Given the description of an element on the screen output the (x, y) to click on. 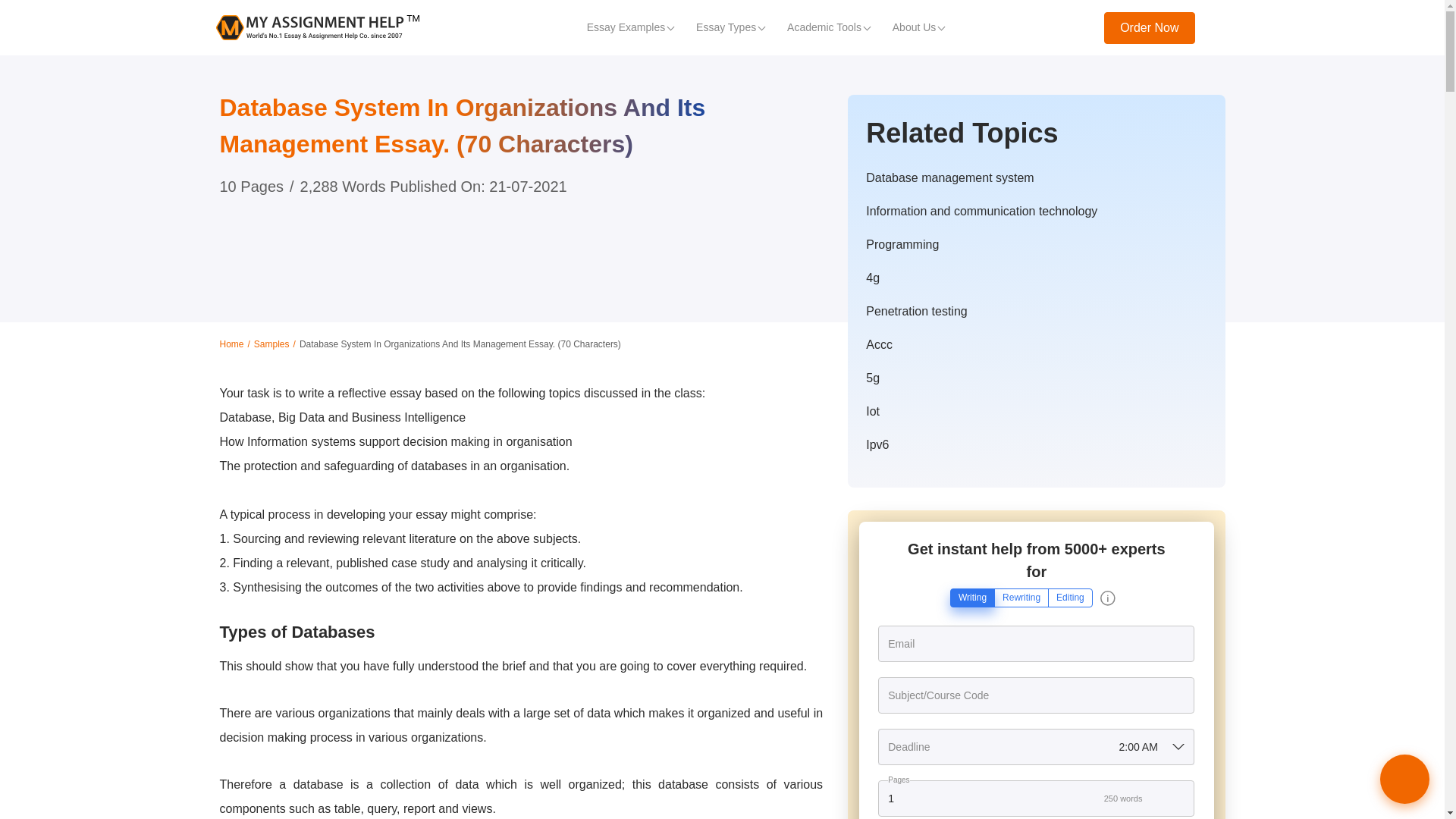
1 (1035, 798)
menu (1218, 27)
plus (1181, 798)
Essay Examples (629, 27)
myassignmenthelp (317, 27)
Info (1107, 598)
